Given the description of an element on the screen output the (x, y) to click on. 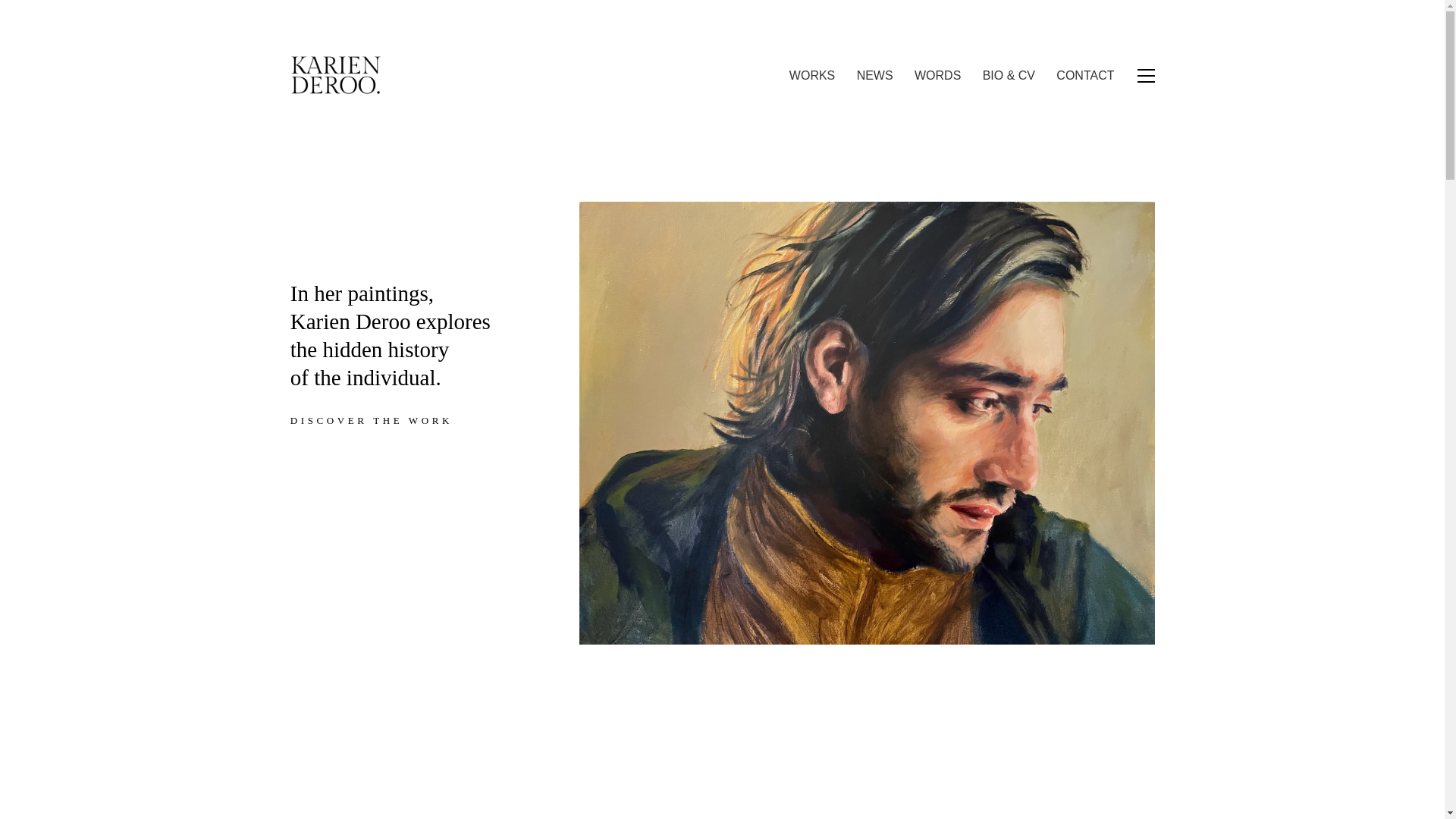
NEWS (875, 75)
WORDS (937, 75)
WORKS (811, 75)
DISCOVER THE WORK (379, 420)
CONTACT (1085, 75)
